Given the description of an element on the screen output the (x, y) to click on. 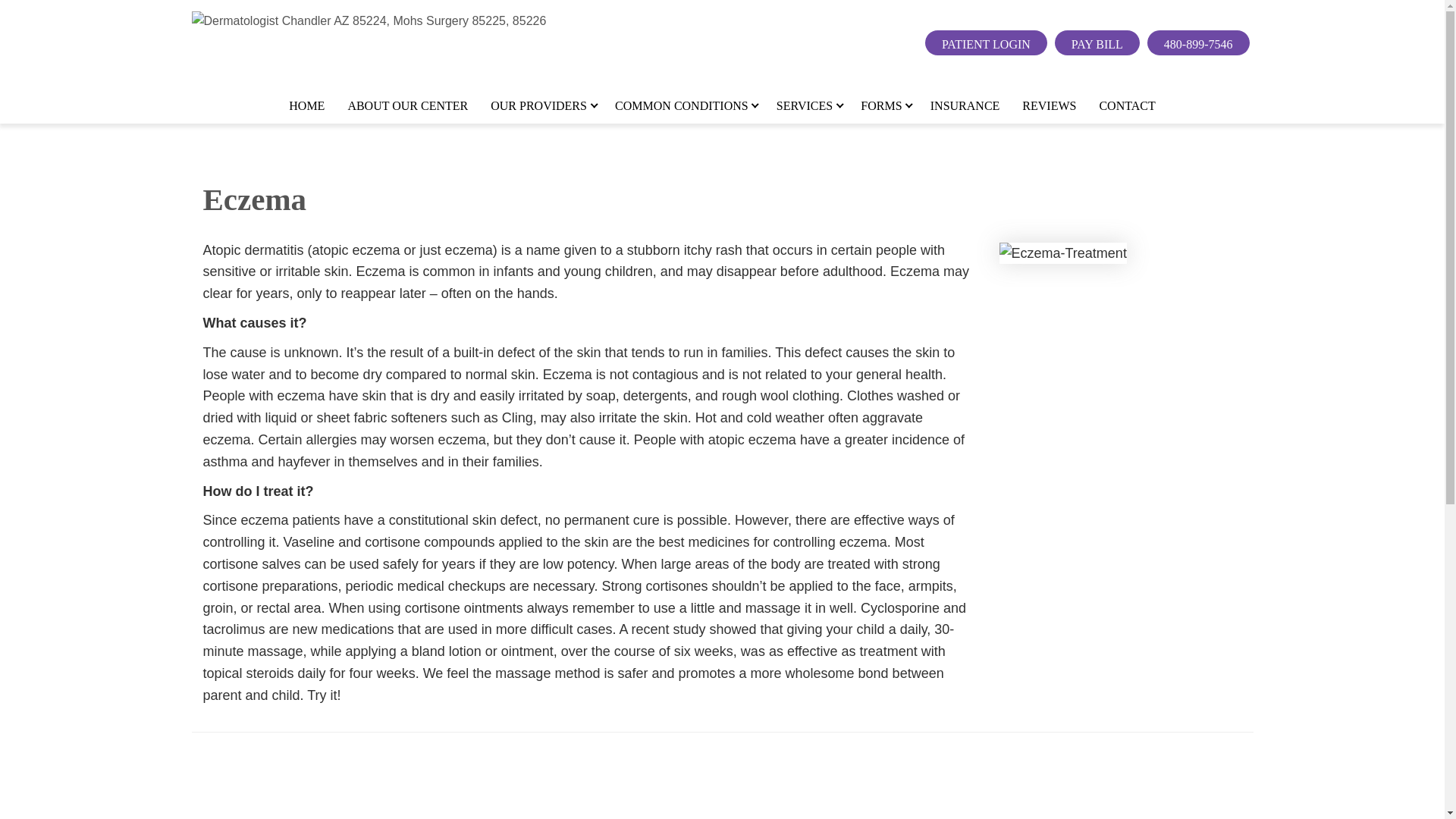
ABOUT OUR CENTER (407, 106)
RASHES (806, 418)
SKIN CANCER (806, 484)
ACNE (806, 156)
RYAN L. OWEN, D.O., FAOCD, FAAD (689, 324)
KRISTINA TODD, MS, PA-C (689, 509)
HILARY REZNICK, MMS, PA-C (689, 542)
HAIR DISORDERS (806, 255)
480-899-7546 (1198, 42)
PATIENT LOGIN (985, 42)
